Given the description of an element on the screen output the (x, y) to click on. 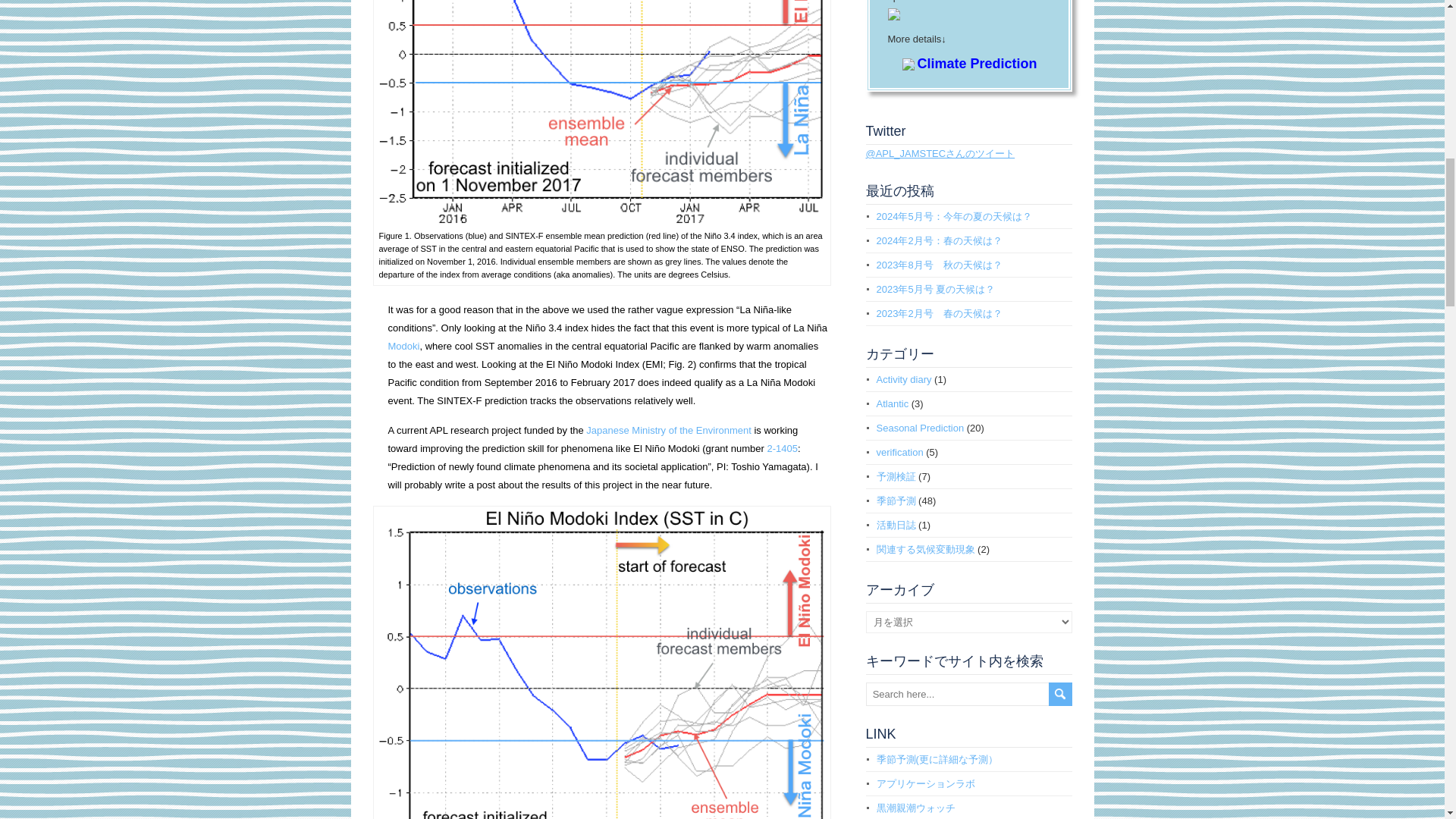
Japanese Ministry of the Environment (668, 430)
Modoki (404, 346)
Climate Prediction (976, 63)
2-1405 (782, 448)
